Given the description of an element on the screen output the (x, y) to click on. 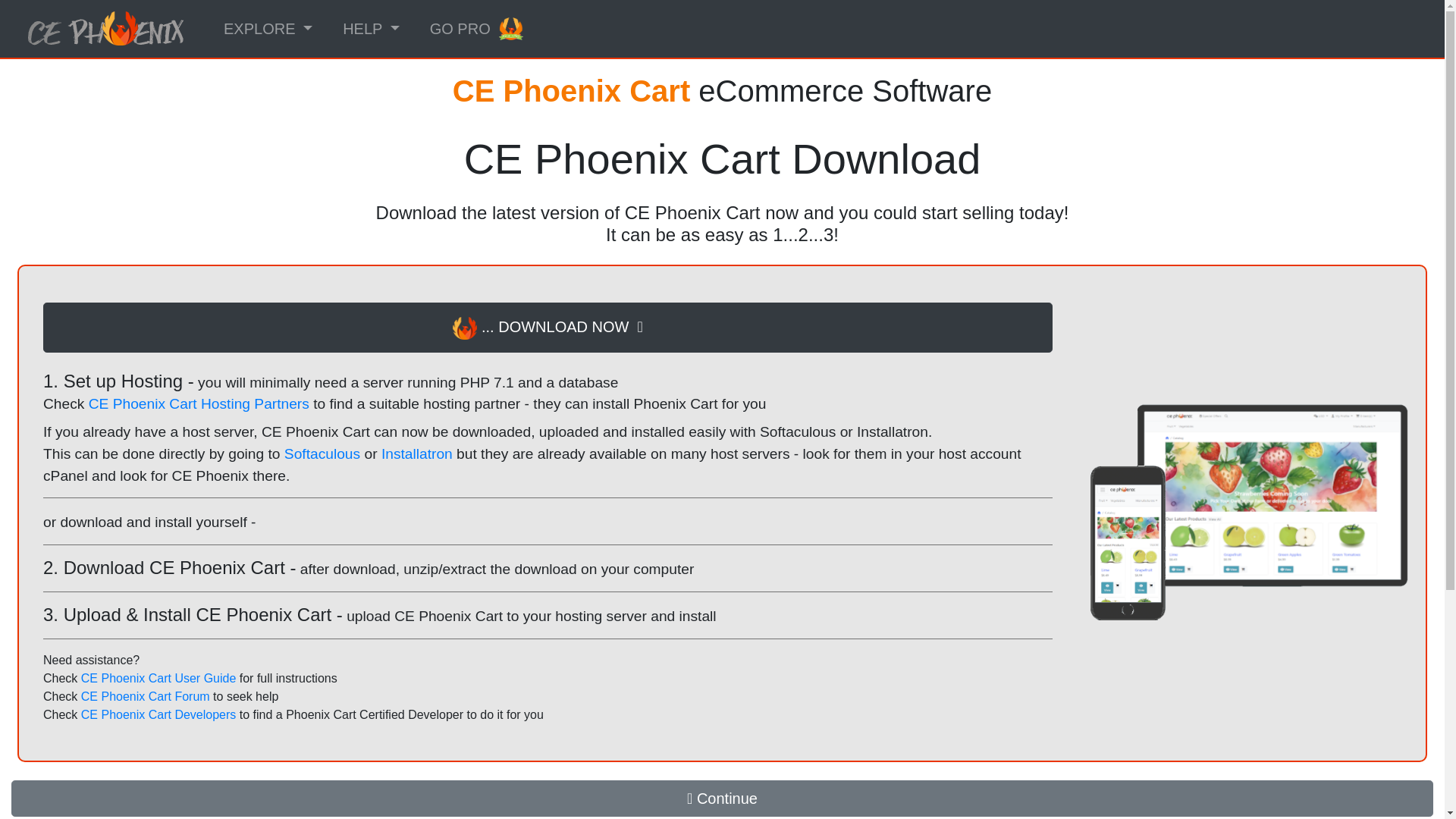
Phoenix (464, 327)
Continue (721, 798)
Installatron (416, 453)
CE Phoenix Cart Hosting Partners (198, 403)
CE Phoenix Cart Developers (158, 714)
Softaculous (321, 453)
CE Phoenix Cart User Guide (158, 677)
 ... DOWNLOAD NOW   (547, 327)
CE Phoenix Cart Forum (145, 696)
Phoenix Logo (105, 28)
GO PRO   (476, 28)
Phoenix Pro (510, 28)
HELP (371, 28)
EXPLORE (267, 28)
